Given the description of an element on the screen output the (x, y) to click on. 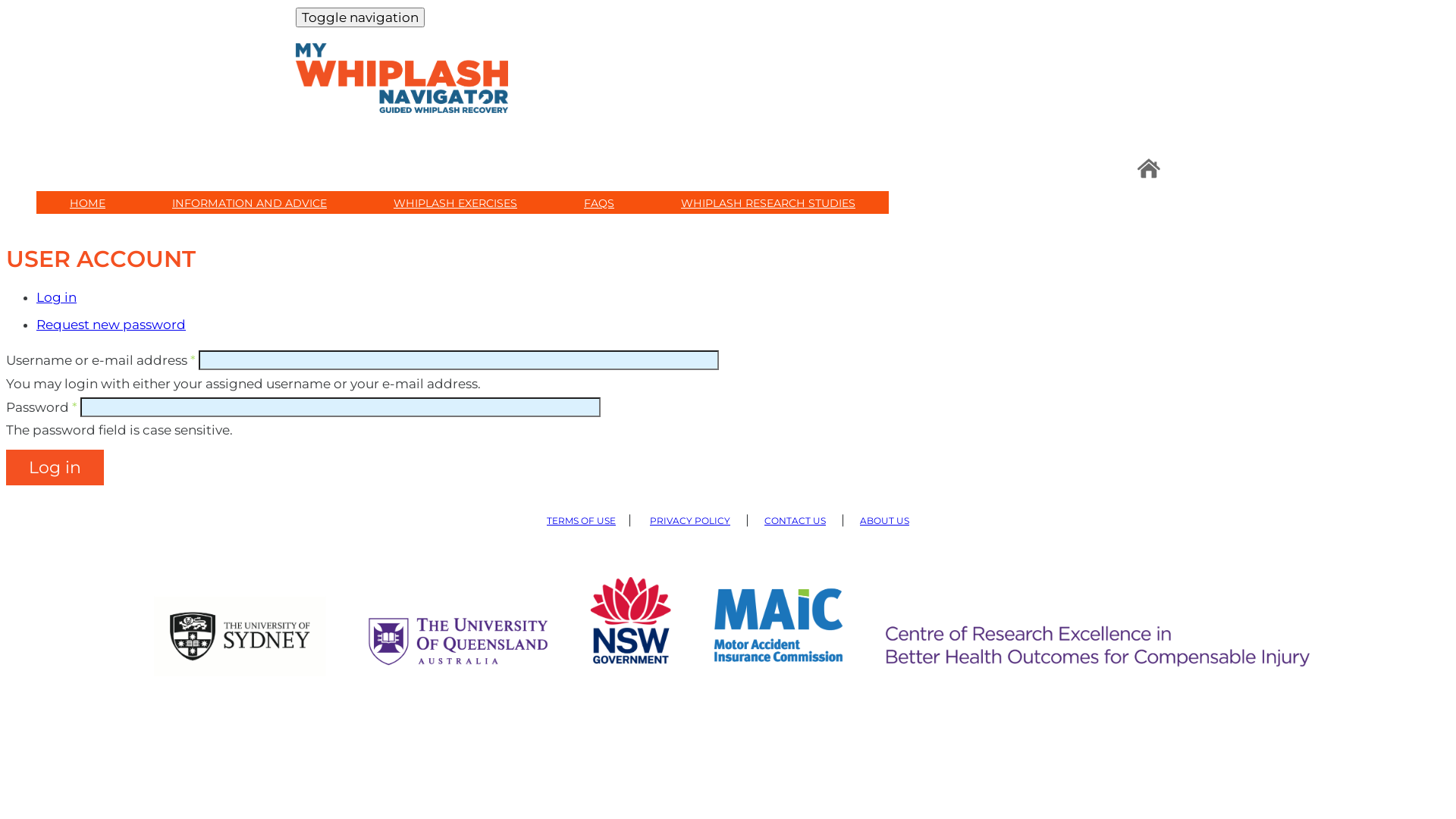
WHIPLASH EXERCISES Element type: text (455, 203)
FAQS Element type: text (598, 203)
Log in Element type: text (54, 467)
Toggle navigation Element type: text (359, 17)
CONTACT US Element type: text (794, 519)
PRIVACY POLICY Element type: text (689, 519)
ABOUT US Element type: text (884, 519)
Log in Element type: text (56, 296)
INFORMATION AND ADVICE Element type: text (249, 203)
HOME Element type: text (87, 203)
WHIPLASH RESEARCH STUDIES Element type: text (767, 203)
Request new password Element type: text (110, 324)
TERMS OF USE Element type: text (580, 519)
